Given the description of an element on the screen output the (x, y) to click on. 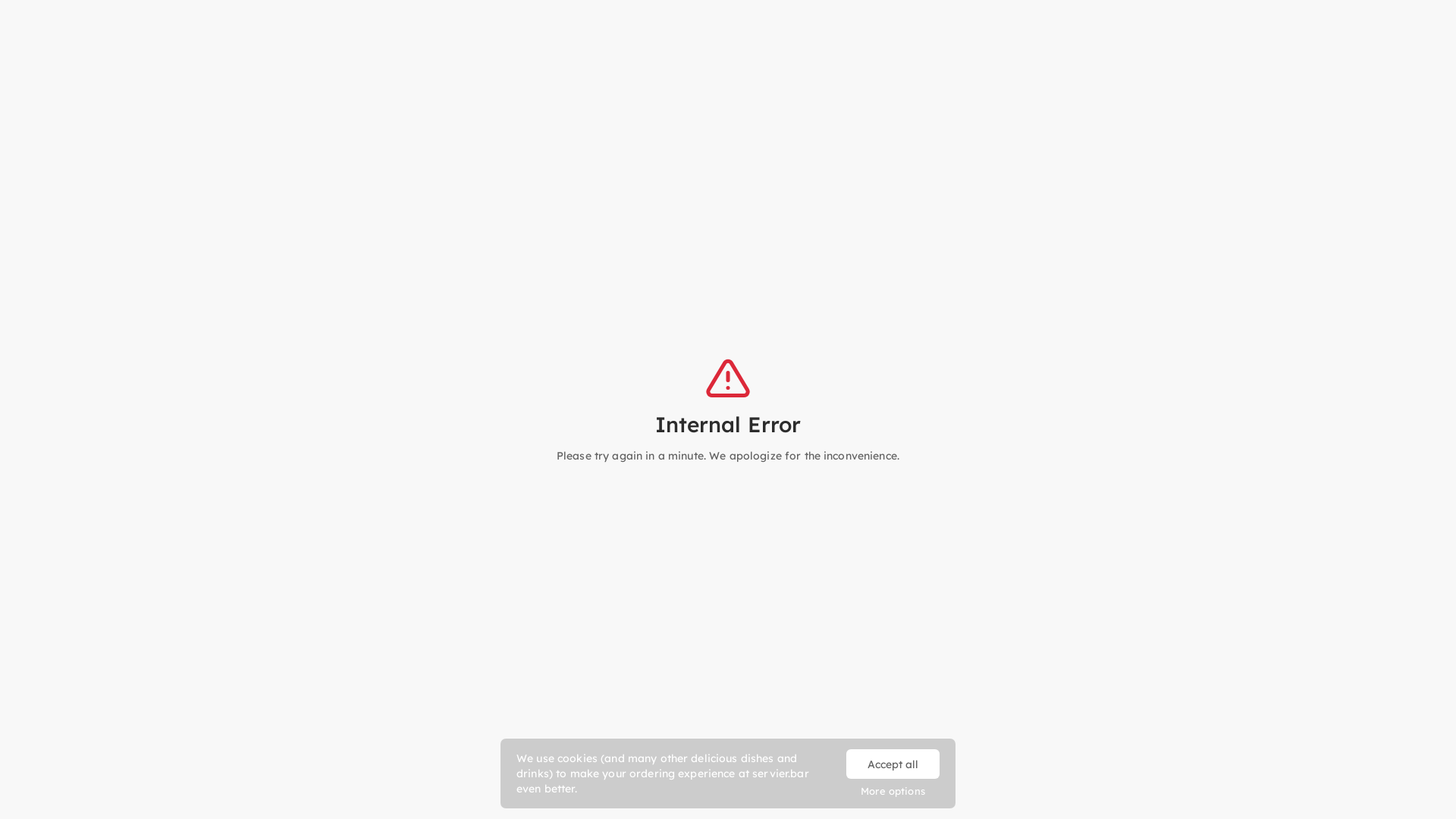
Accept all Element type: text (892, 763)
